Given the description of an element on the screen output the (x, y) to click on. 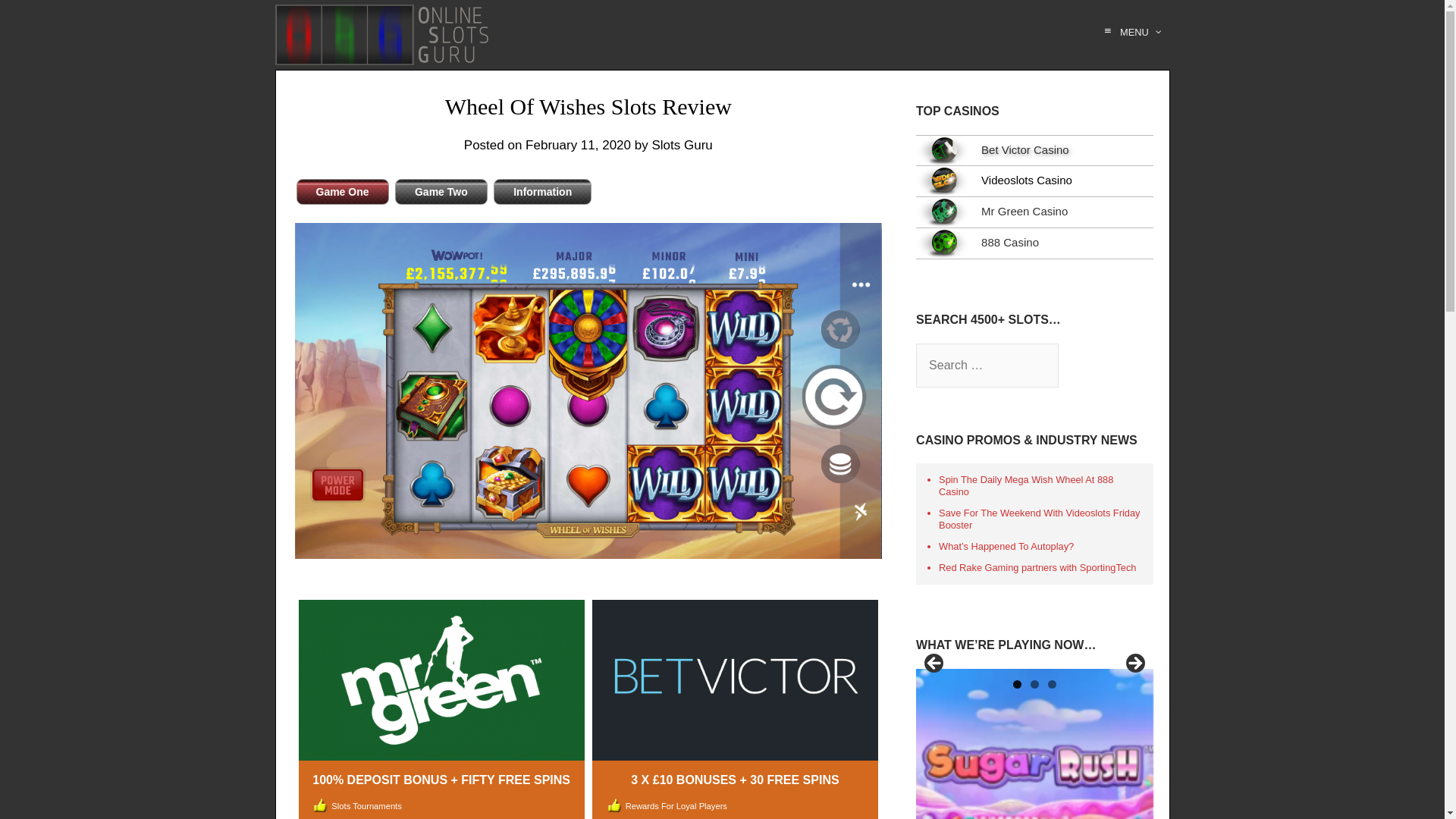
Game Two (440, 191)
MENU (1130, 31)
Slots Guru (680, 145)
Game One (341, 191)
February 11, 2020 (577, 145)
sugar rush slider (1034, 744)
Information (542, 191)
